Given the description of an element on the screen output the (x, y) to click on. 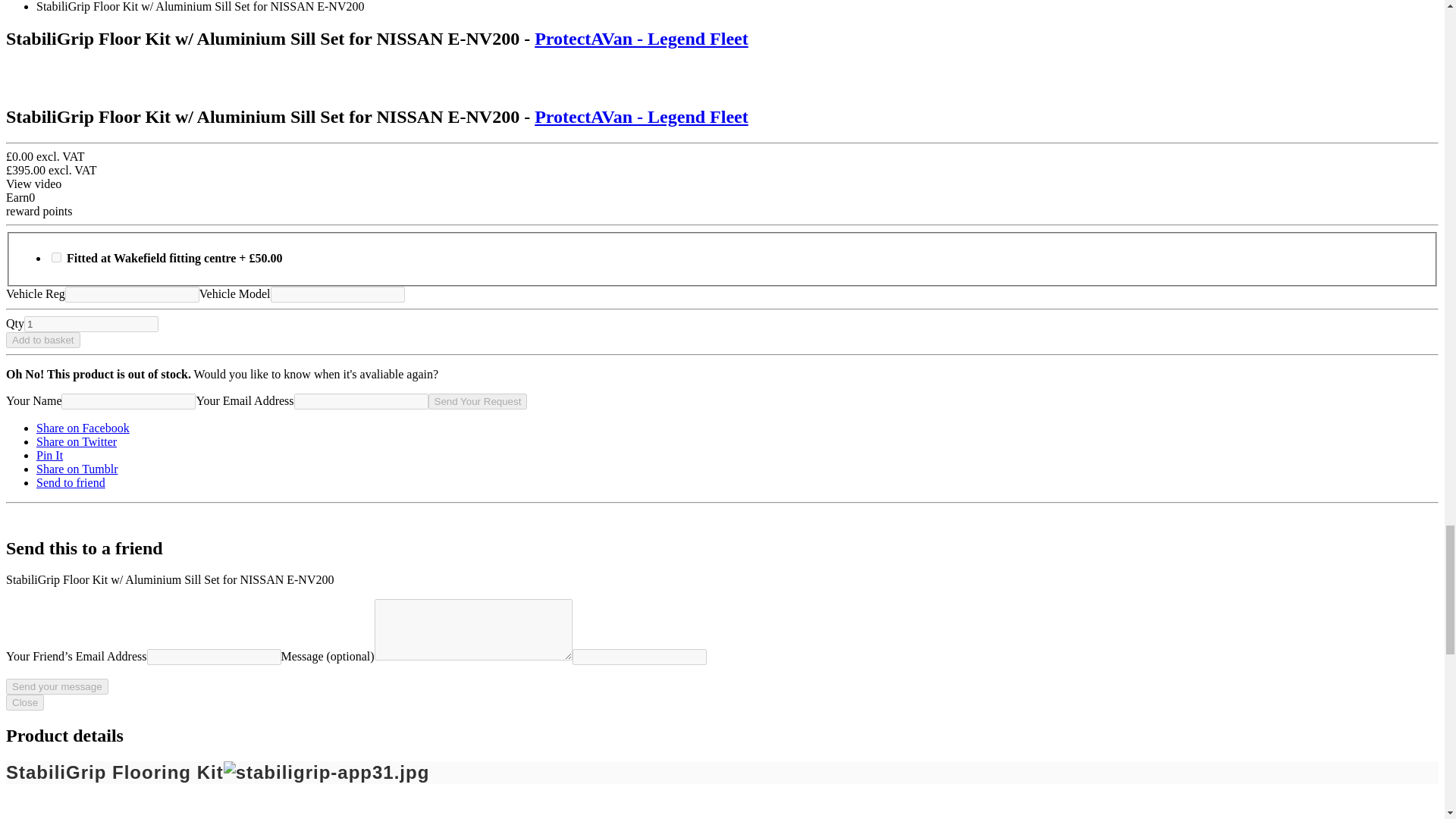
1 (91, 324)
952559 (55, 257)
